Given the description of an element on the screen output the (x, y) to click on. 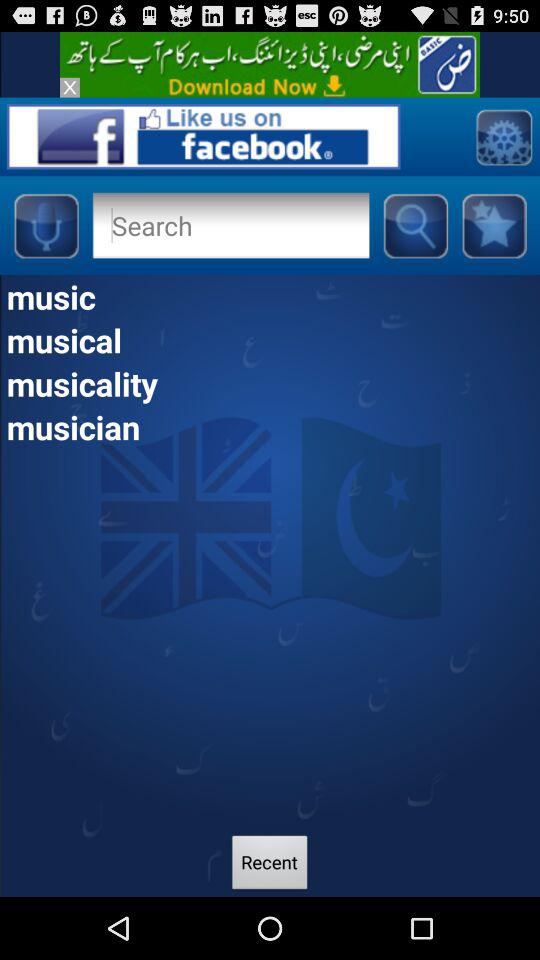
scroll until the music icon (270, 296)
